Given the description of an element on the screen output the (x, y) to click on. 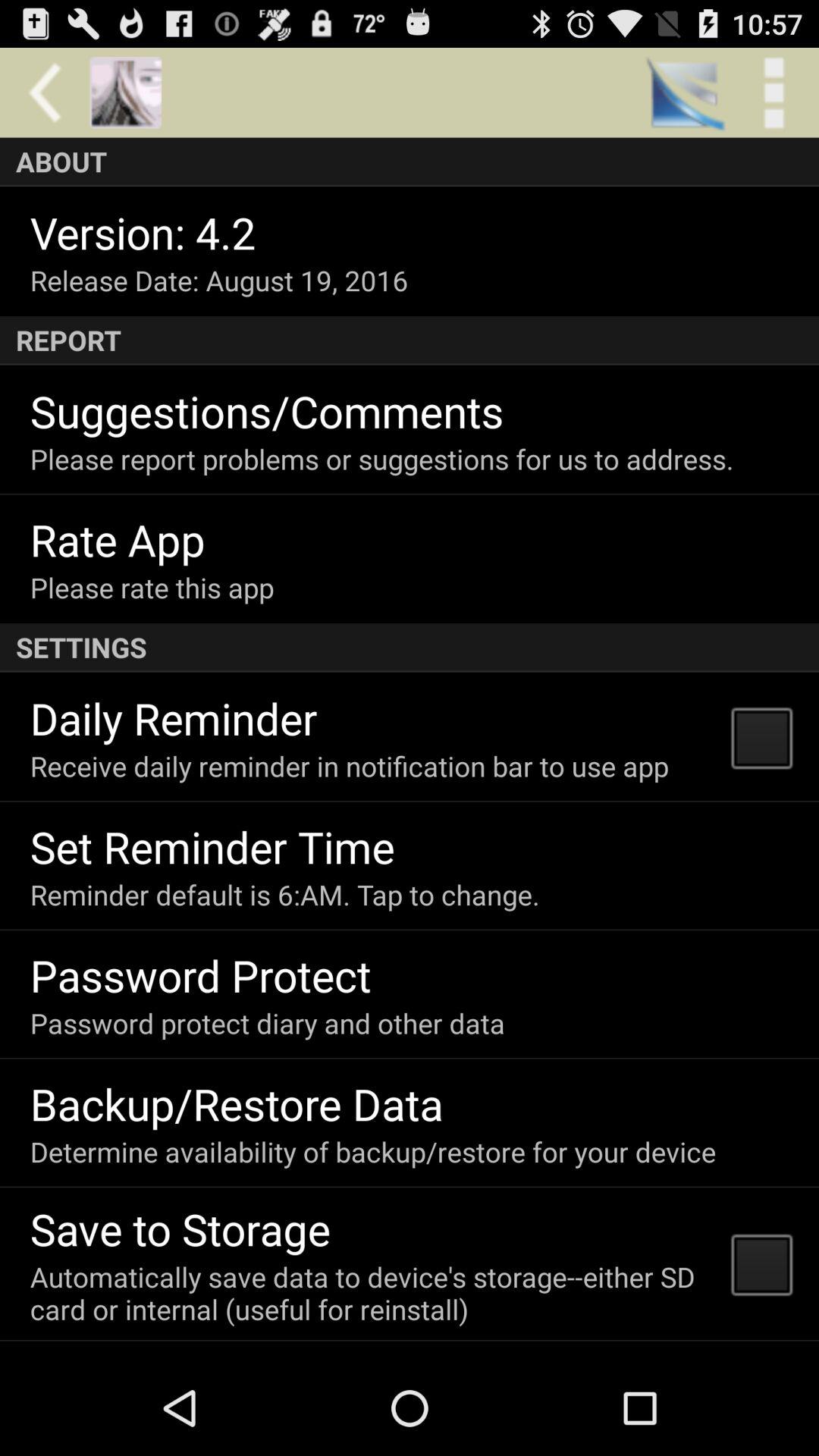
launch the item above the about app (774, 92)
